Given the description of an element on the screen output the (x, y) to click on. 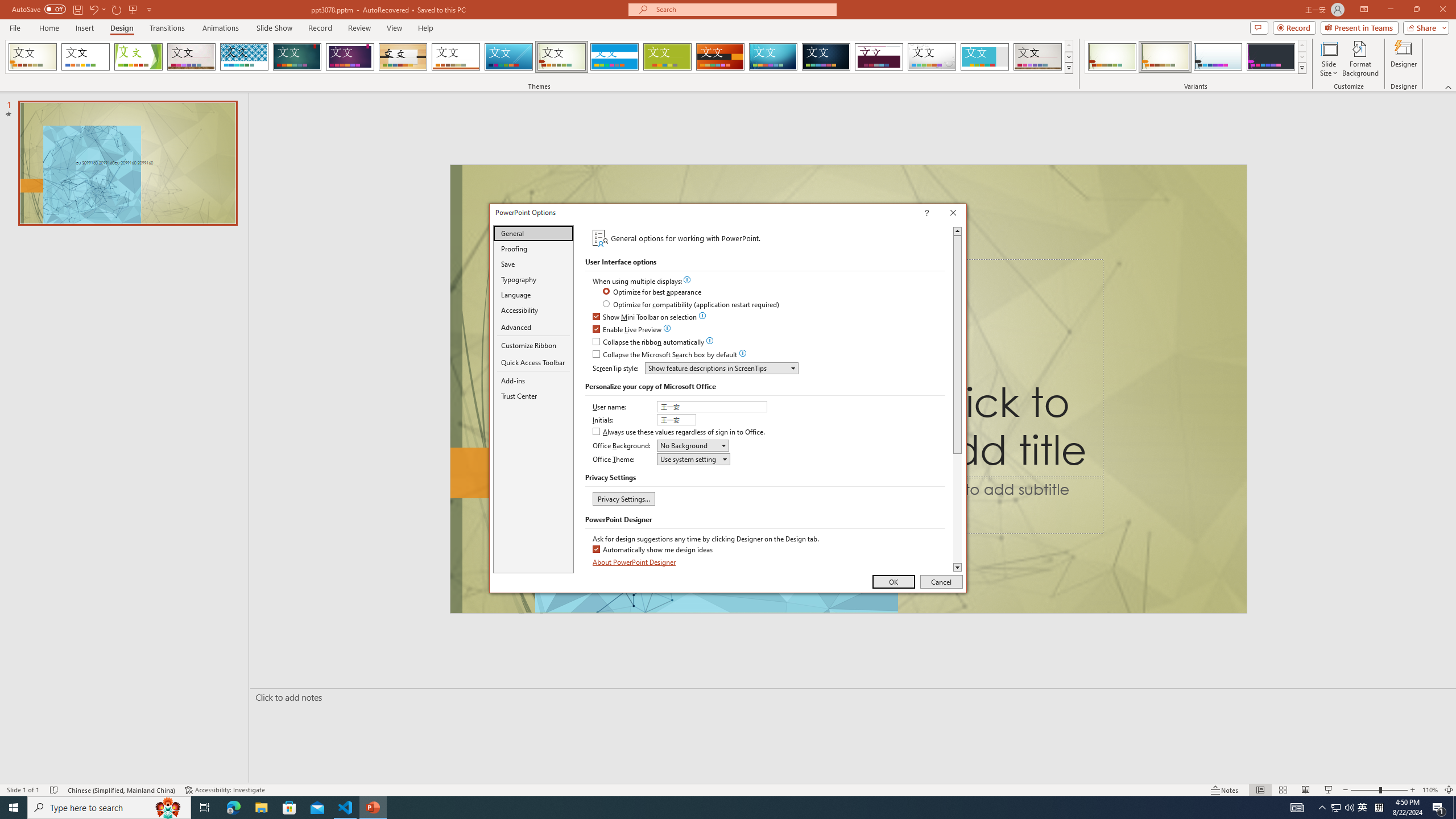
Wisp Loading Preview... (561, 56)
Show desktop (1454, 807)
Integral Loading Preview... (244, 56)
Slice Loading Preview... (1335, 807)
Banded Loading Preview... (508, 56)
Customize Ribbon (614, 56)
Ion Boardroom Loading Preview... (533, 344)
AutomationID: 4105 (350, 56)
AutomationID: ThemeVariantsGallery (1297, 807)
Retrospect Loading Preview... (1195, 56)
Office Theme (455, 56)
